Given the description of an element on the screen output the (x, y) to click on. 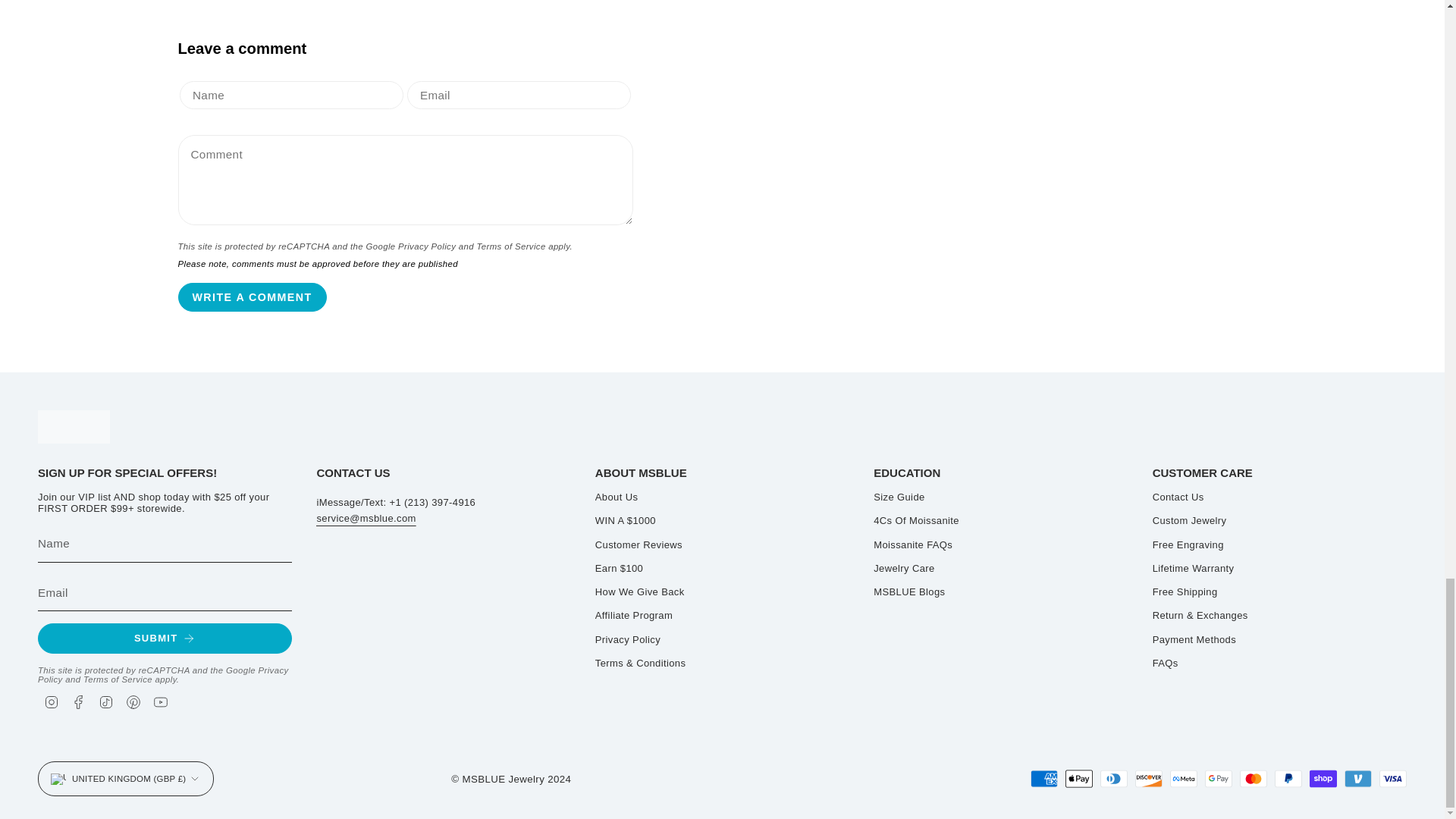
Write a comment (251, 297)
